Given the description of an element on the screen output the (x, y) to click on. 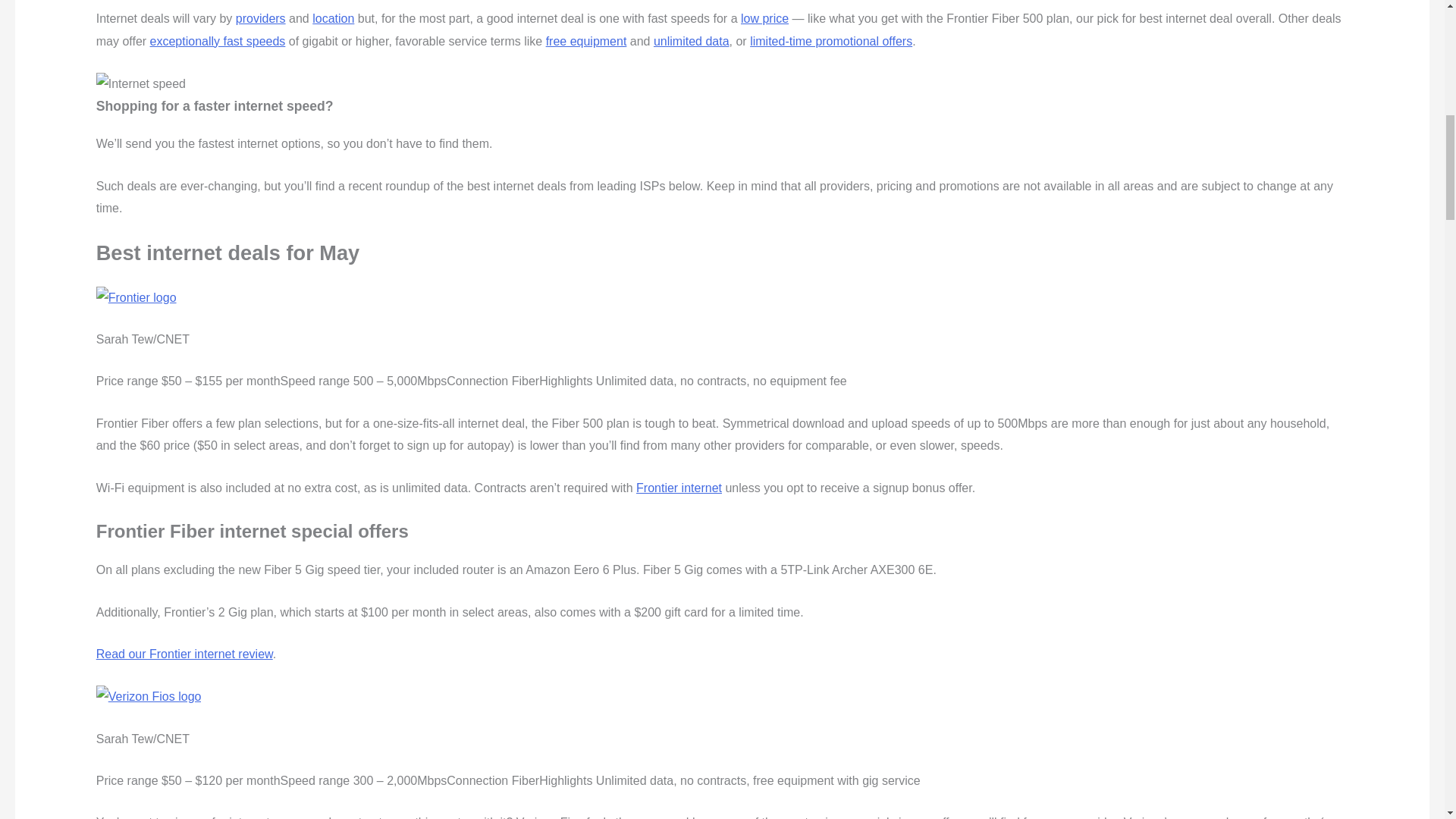
unlimited data (691, 41)
providers (260, 18)
Read our Frontier internet review (184, 653)
location (333, 18)
low price (765, 18)
free equipment (586, 41)
exceptionally fast speeds (217, 41)
limited-time promotional offers (830, 41)
Frontier internet (679, 487)
